Given the description of an element on the screen output the (x, y) to click on. 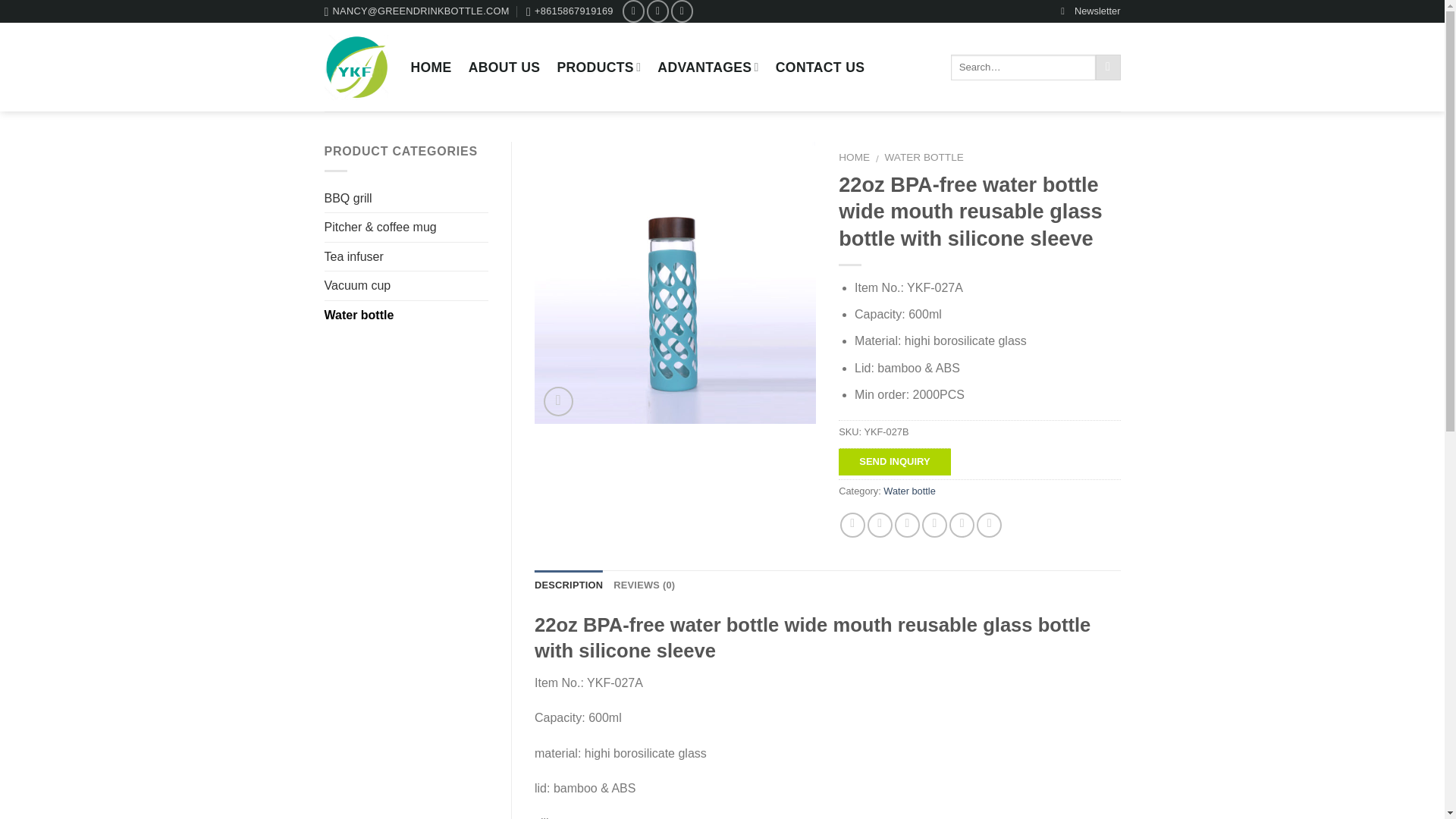
SEND INQUIRY (894, 460)
WATER BOTTLE (924, 156)
ADVANTAGES (708, 66)
Water bottle (909, 490)
Newsletter (1090, 11)
HOME (430, 67)
CONTACT US (820, 67)
Jiangsu Yukoufu bottle Co.,ltd - Just another WordPress site (356, 67)
ABOUT US (504, 67)
PRODUCTS (598, 66)
HOME (853, 156)
